Given the description of an element on the screen output the (x, y) to click on. 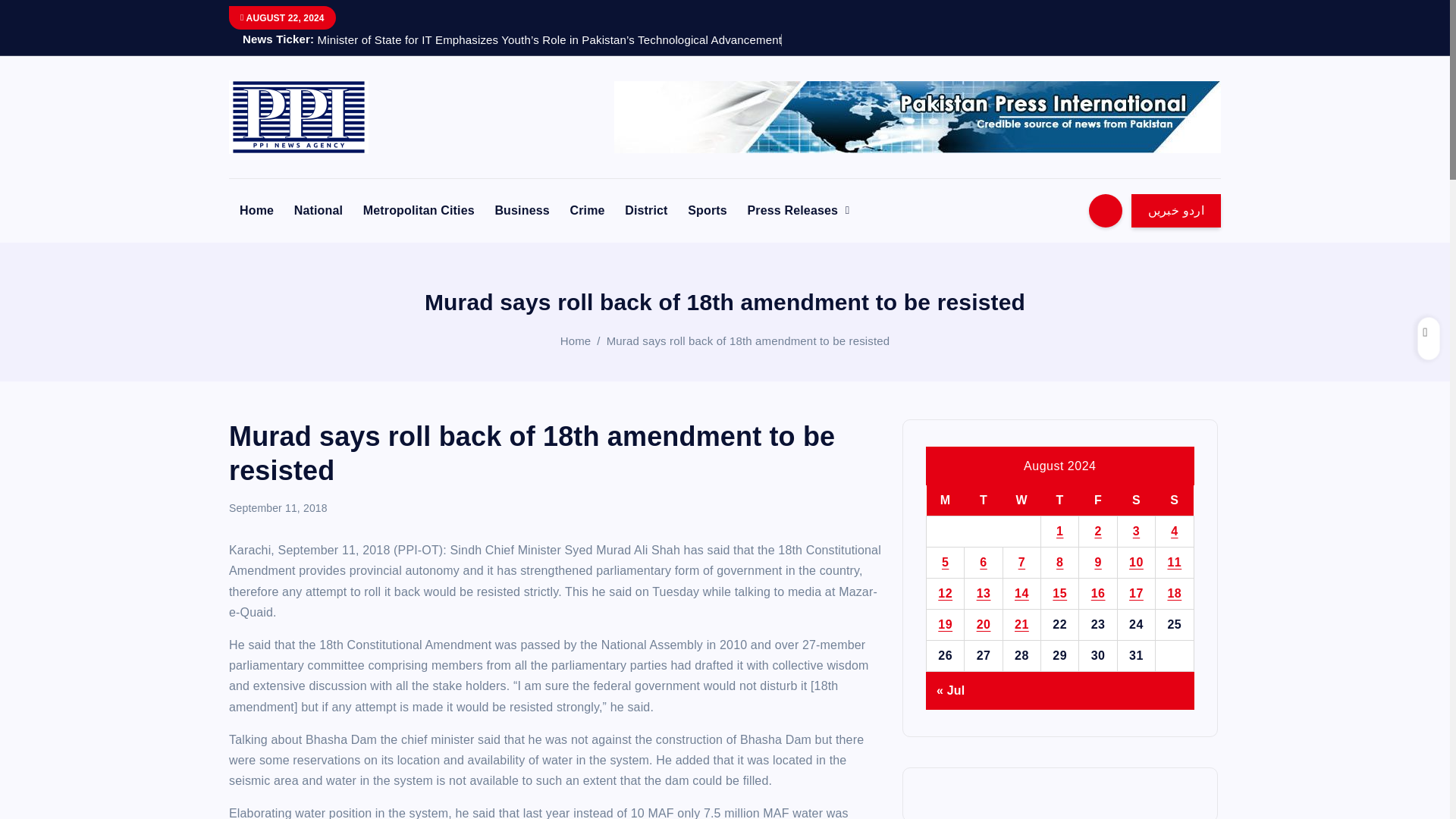
Business (521, 209)
Sports (707, 209)
Murad says roll back of 18th amendment to be resisted (748, 340)
Home (255, 209)
National (318, 209)
National (318, 209)
District (646, 209)
Press Releases (798, 209)
District (646, 209)
Sports (707, 209)
